Given the description of an element on the screen output the (x, y) to click on. 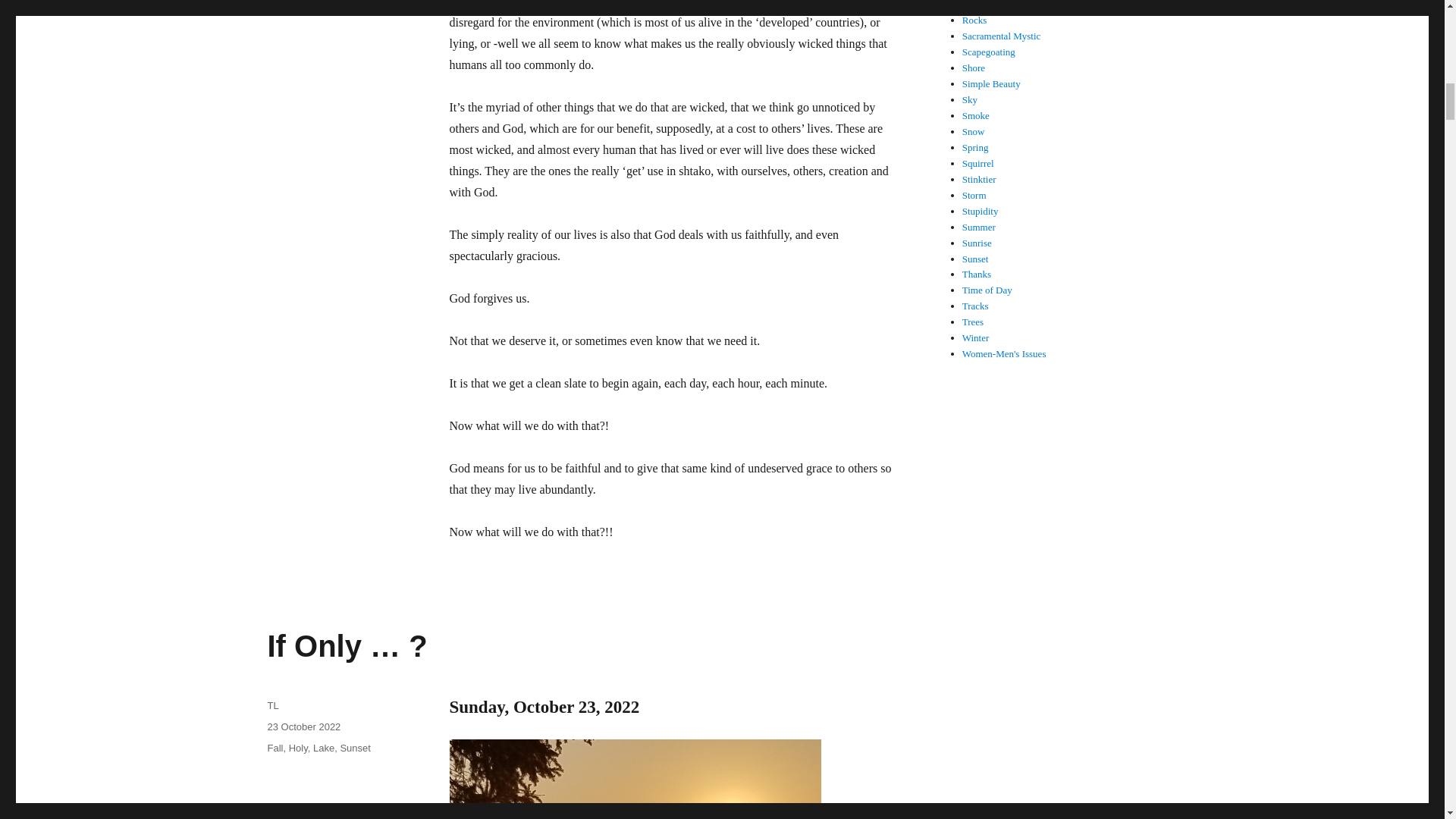
Holy (297, 747)
Fall (274, 747)
Lake (323, 747)
23 October 2022 (303, 726)
Sunset (354, 747)
TL (272, 705)
